Given the description of an element on the screen output the (x, y) to click on. 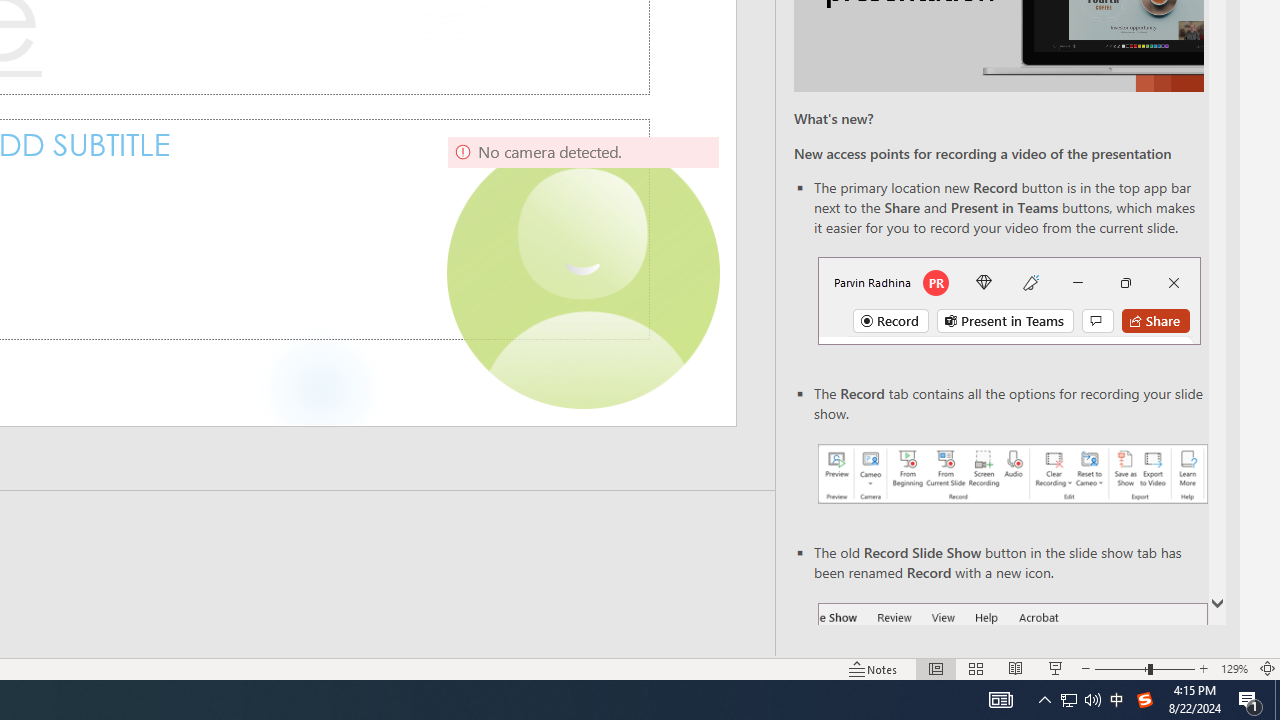
Record button in top bar (1008, 300)
Zoom 129% (1234, 668)
Record your presentations screenshot one (1012, 473)
